Given the description of an element on the screen output the (x, y) to click on. 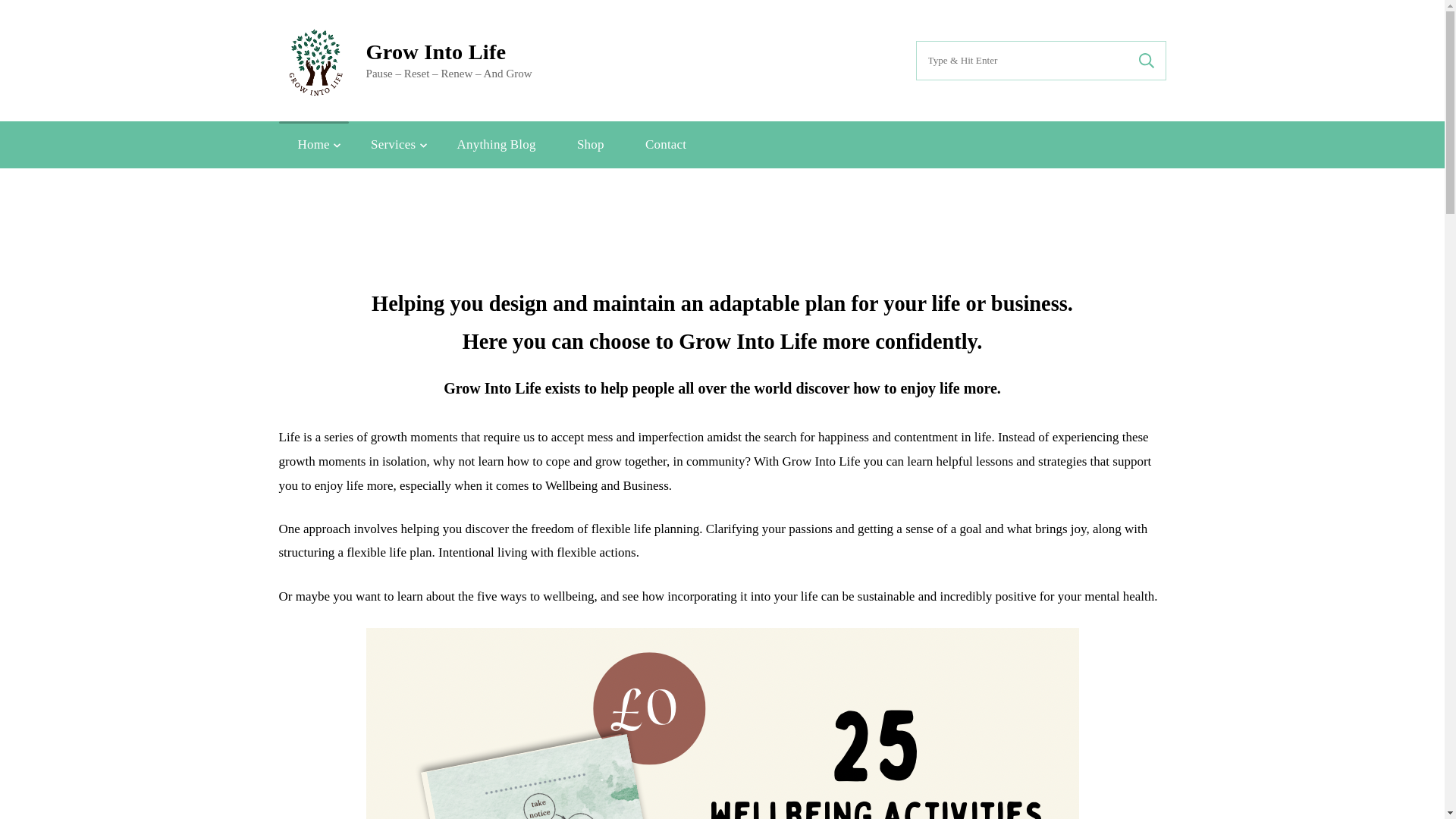
Grow Into Life (435, 51)
Contact (665, 144)
Search (1145, 60)
Shop (590, 144)
Search (1145, 60)
Home (314, 144)
Search (1145, 60)
Anything Blog (496, 144)
Services (392, 144)
